Given the description of an element on the screen output the (x, y) to click on. 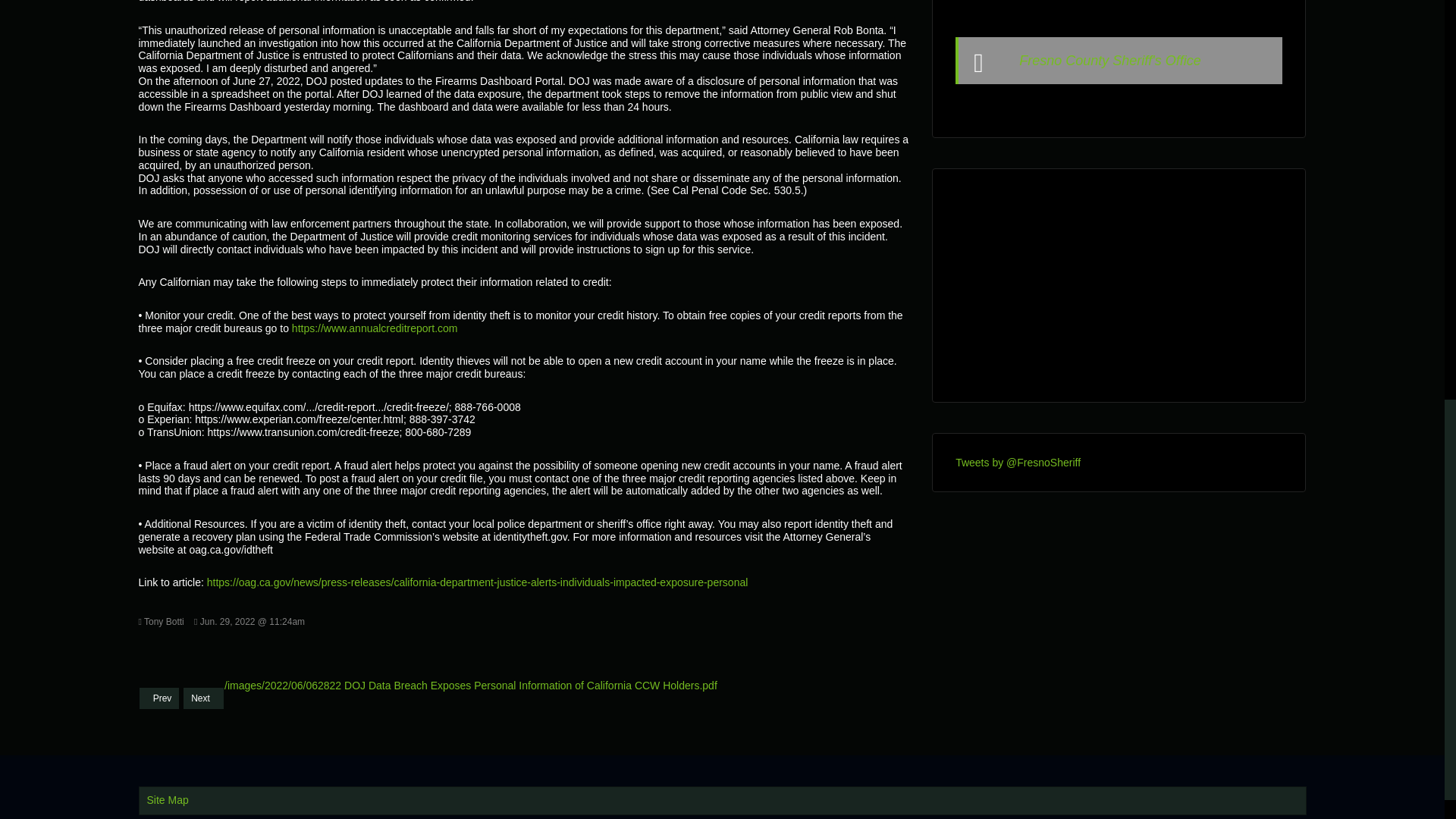
Published:  (248, 621)
Back to Top (1414, 30)
Written by:  (160, 621)
